Given the description of an element on the screen output the (x, y) to click on. 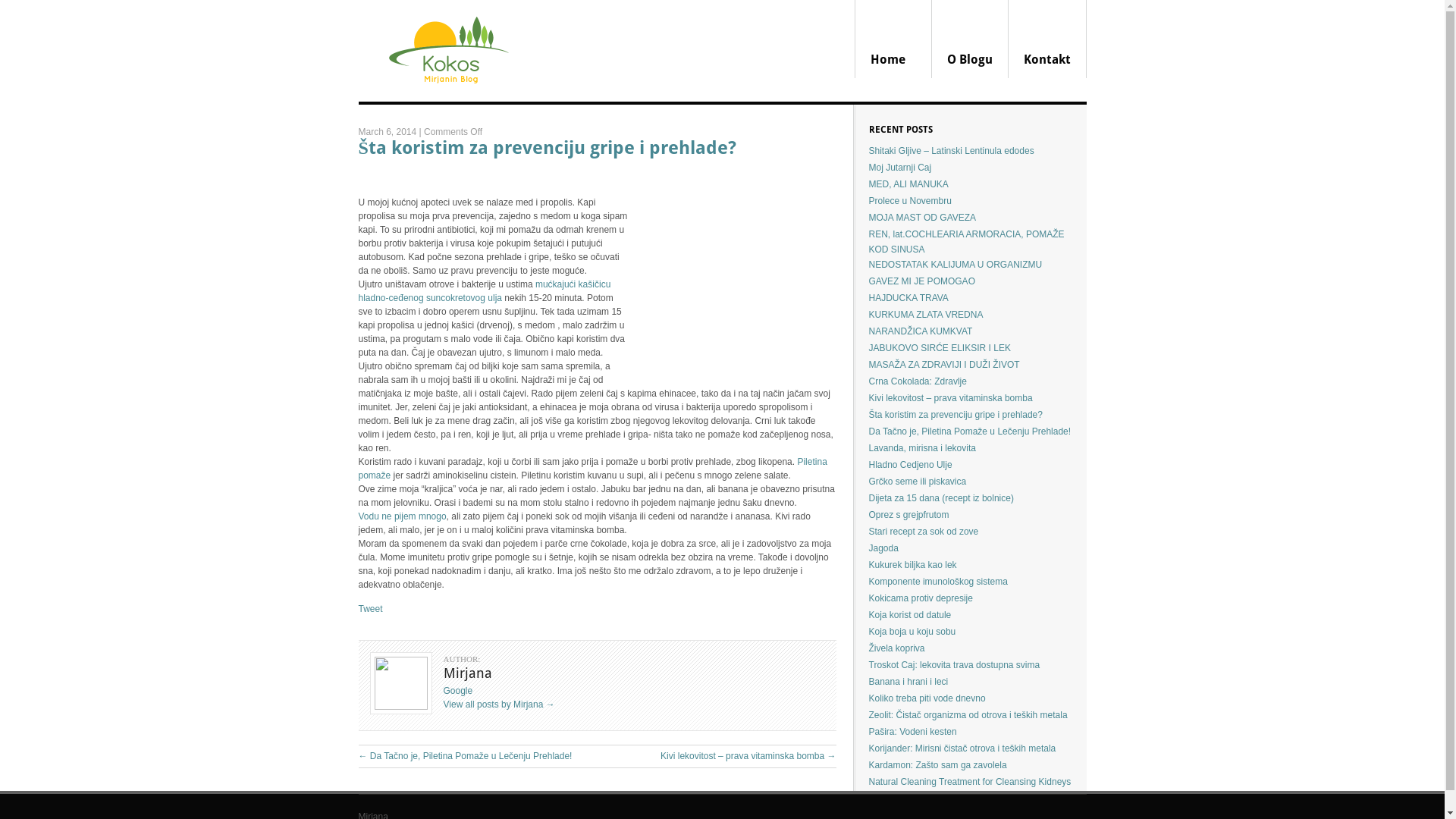
Vodu ne pijem mnogo Element type: text (401, 516)
Dijeta za 15 dana (recept iz bolnice) Element type: text (941, 497)
Google Element type: text (457, 690)
Kokos.net.au Element type: hover (446, 98)
Natural Cleaning Treatment for Cleansing Kidneys Element type: text (970, 781)
Troskot Caj: lekovita trava dostupna svima Element type: text (954, 664)
Hladno Cedjeno Ulje Element type: text (910, 464)
Koliko treba piti vode dnevno Element type: text (927, 698)
Koja boja u koju sobu Element type: text (912, 631)
MOJA MAST OD GAVEZA Element type: text (922, 217)
HAJDUCKA TRAVA Element type: text (908, 297)
Lavanda, mirisna i lekovita Element type: text (922, 447)
Advertisement Element type: hover (731, 272)
O Blogu Element type: text (969, 39)
Banana i hrani i leci Element type: text (908, 681)
Kontakt Element type: text (1047, 39)
KURKUMA ZLATA VREDNA Element type: text (926, 314)
Moj Jutarnji Caj Element type: text (900, 167)
Crna Cokolada: Zdravlje Element type: text (917, 381)
Oprez s grejpfrutom Element type: text (909, 514)
Kokicama protiv depresije Element type: text (920, 598)
Stari recept za sok od zove Element type: text (924, 531)
Home Element type: text (893, 39)
Tweet Element type: text (369, 608)
Prolece u Novembru Element type: text (910, 200)
NEDOSTATAK KALIJUMA U ORGANIZMU Element type: text (955, 264)
Kukurek biljka kao lek Element type: text (913, 564)
GAVEZ MI JE POMOGAO Element type: text (922, 281)
MED, ALI MANUKA Element type: text (908, 183)
Koja korist od datule Element type: text (910, 614)
Jagoda Element type: text (883, 547)
